Given the description of an element on the screen output the (x, y) to click on. 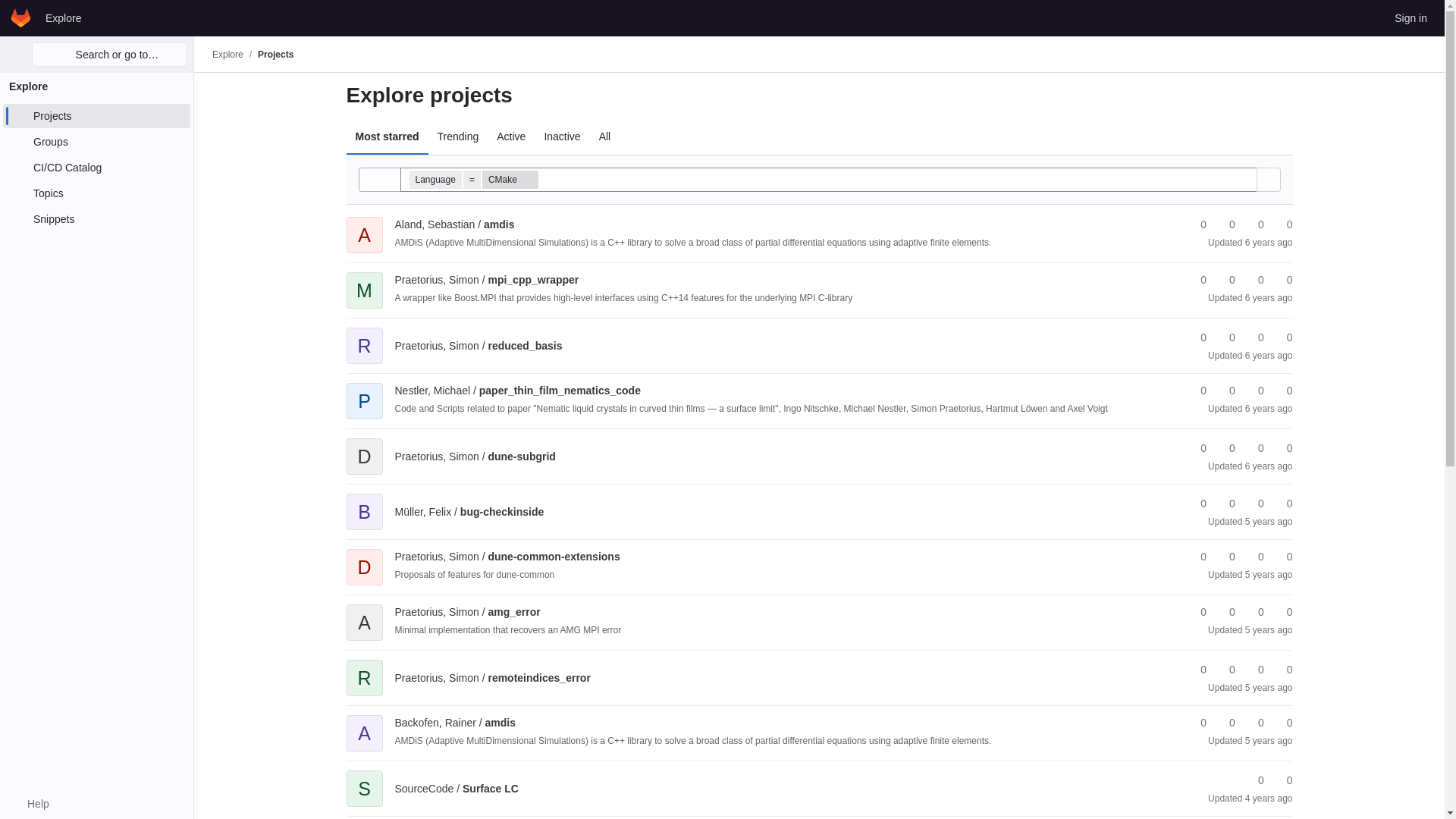
Snippets (96, 218)
Projects (275, 54)
Groups (96, 141)
Issues (1282, 224)
Inactive (561, 135)
Explore (63, 17)
amdis (453, 224)
Forks (1224, 279)
Sign in (1410, 17)
Stars (1196, 224)
